Given the description of an element on the screen output the (x, y) to click on. 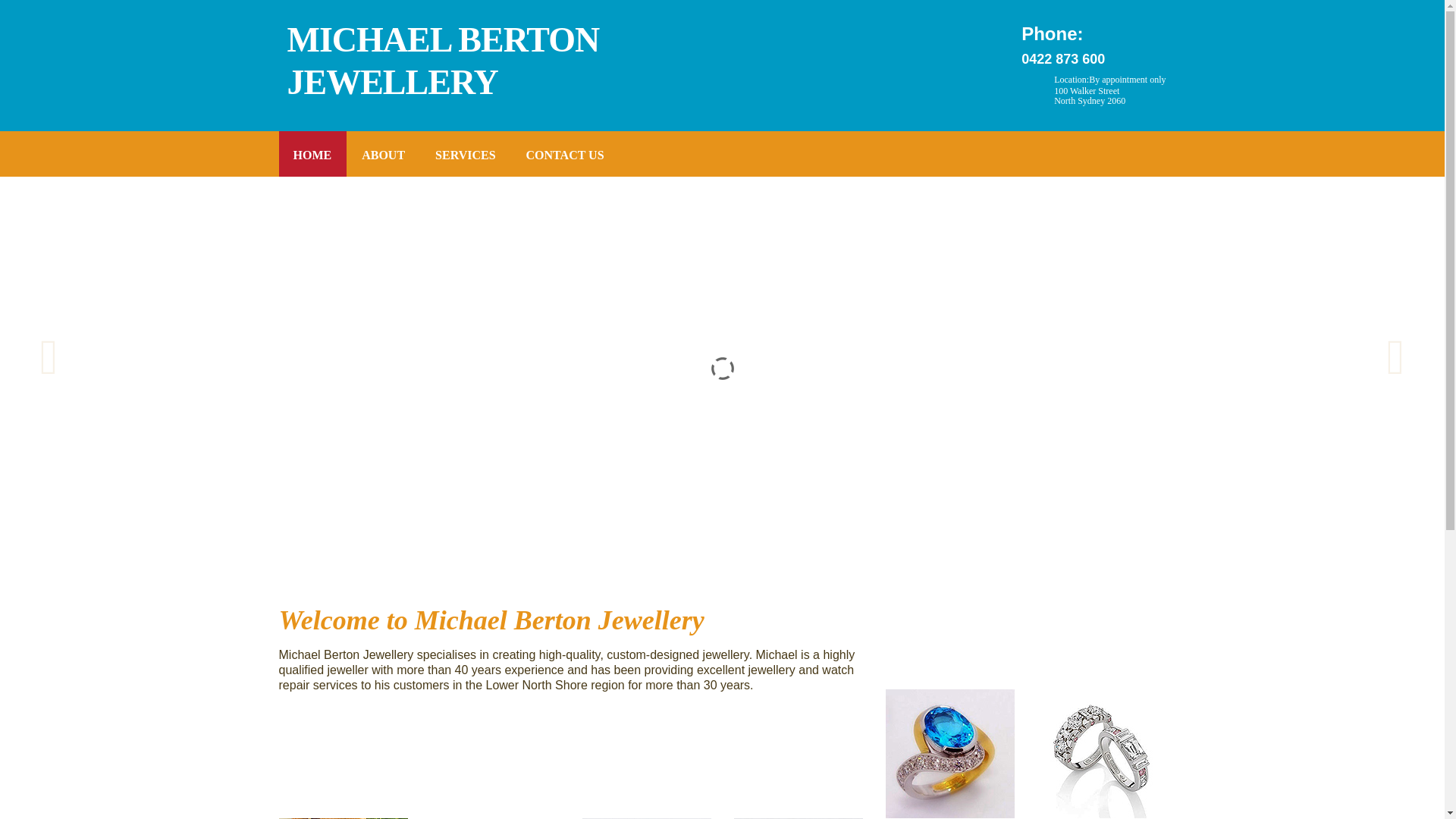
SERVICES Element type: text (465, 153)
JEWELLERY Element type: text (391, 81)
MICHAEL BERTON Element type: text (442, 39)
0422 873 600 Element type: text (1062, 58)
ABOUT Element type: text (383, 153)
CONTACT US Element type: text (565, 153)
HOME Element type: text (313, 153)
